Given the description of an element on the screen output the (x, y) to click on. 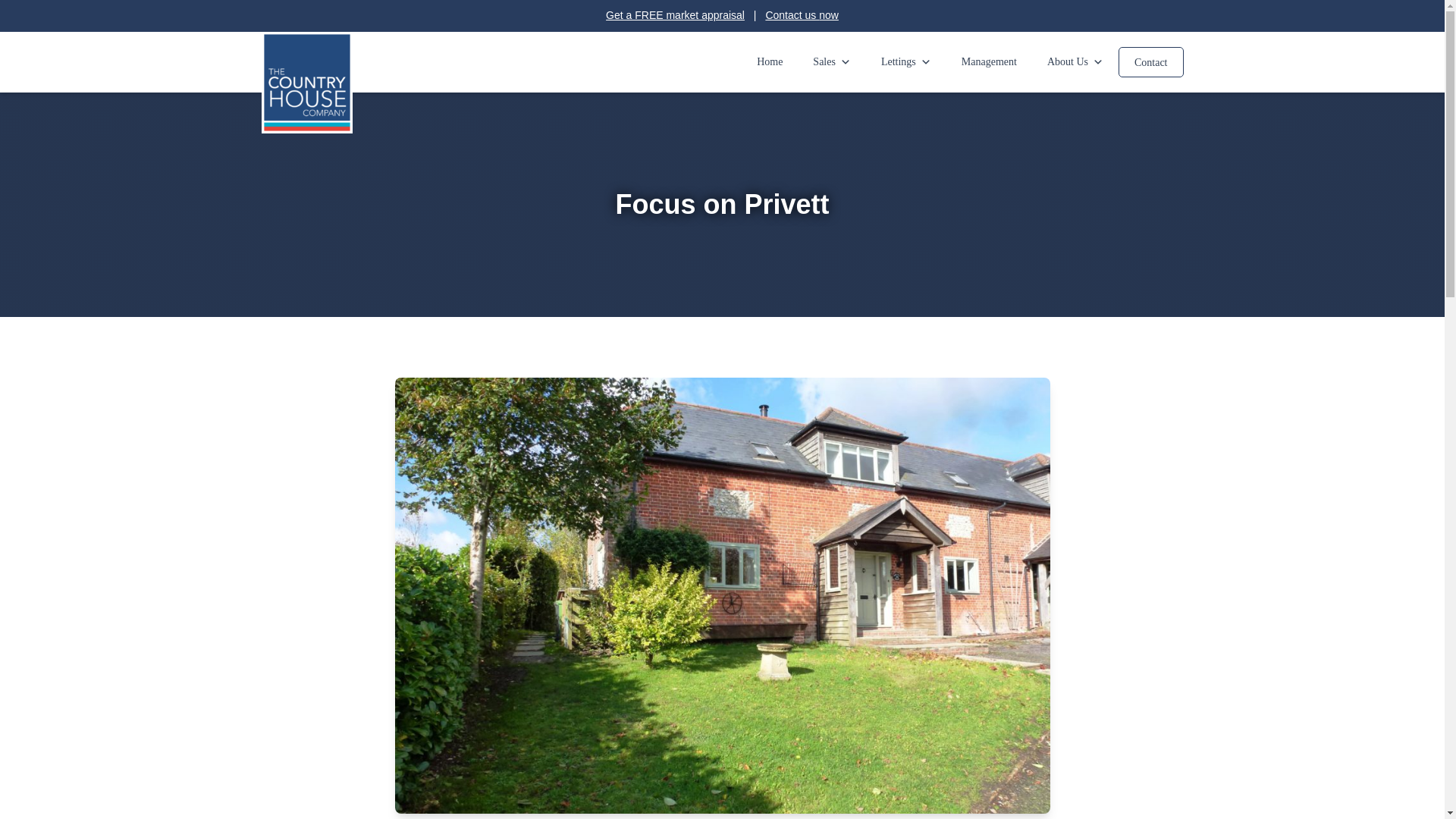
Sales (831, 61)
Management (989, 61)
About Us (1075, 61)
Get a FREE market appraisal (674, 15)
Contact us now (801, 15)
Home (769, 61)
Contact (1150, 61)
Lettings (906, 61)
